Given the description of an element on the screen output the (x, y) to click on. 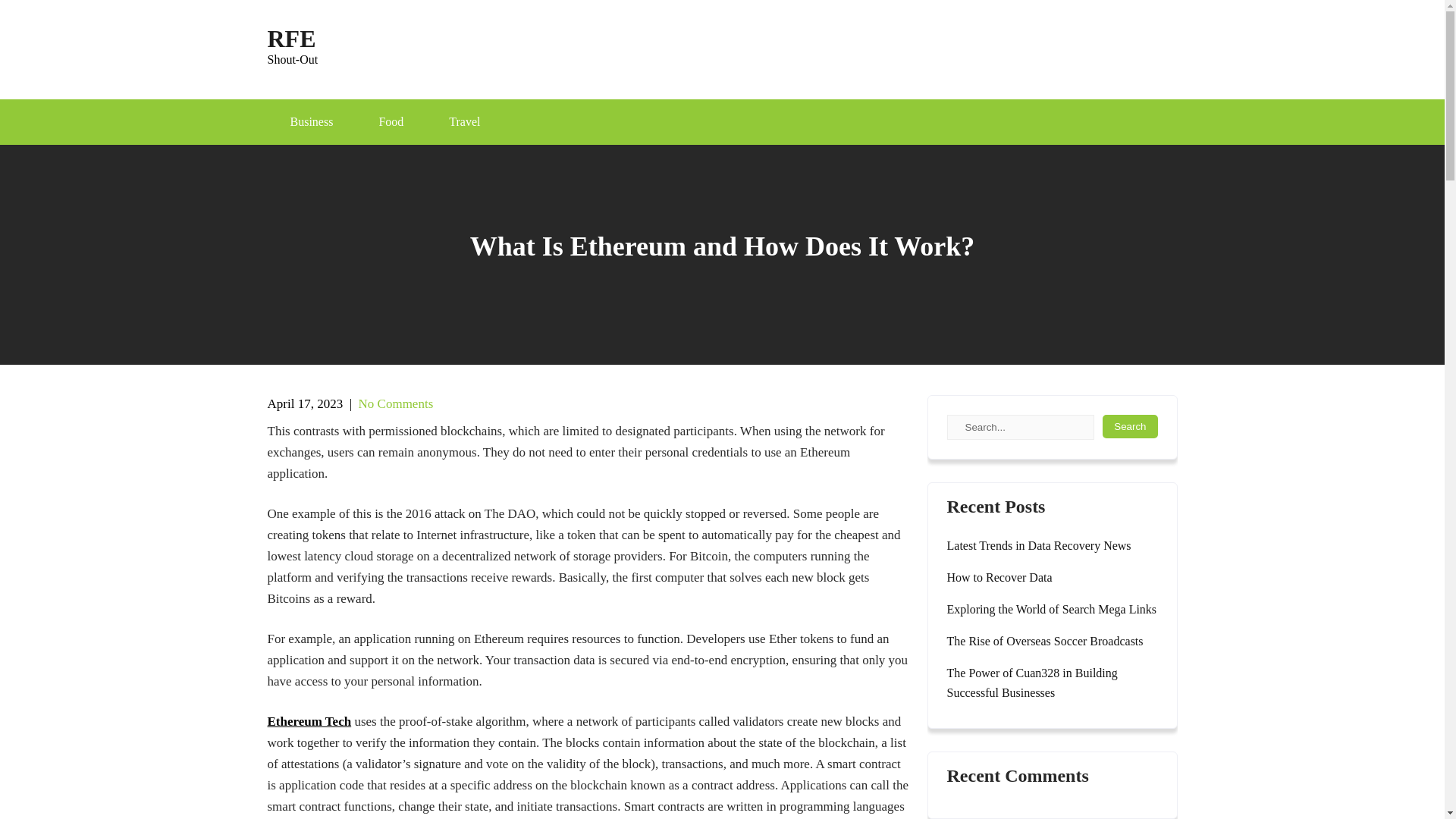
Search (1129, 426)
The Power of Cuan328 in Building Successful Businesses (1051, 682)
Ethereum Tech (308, 721)
Travel (464, 121)
The Rise of Overseas Soccer Broadcasts (1044, 641)
Exploring the World of Search Mega Links (1051, 609)
How to Recover Data (998, 578)
Search (291, 38)
Business (1129, 426)
No Comments (310, 121)
Search (395, 403)
Food (1129, 426)
Latest Trends in Data Recovery News (390, 121)
